Given the description of an element on the screen output the (x, y) to click on. 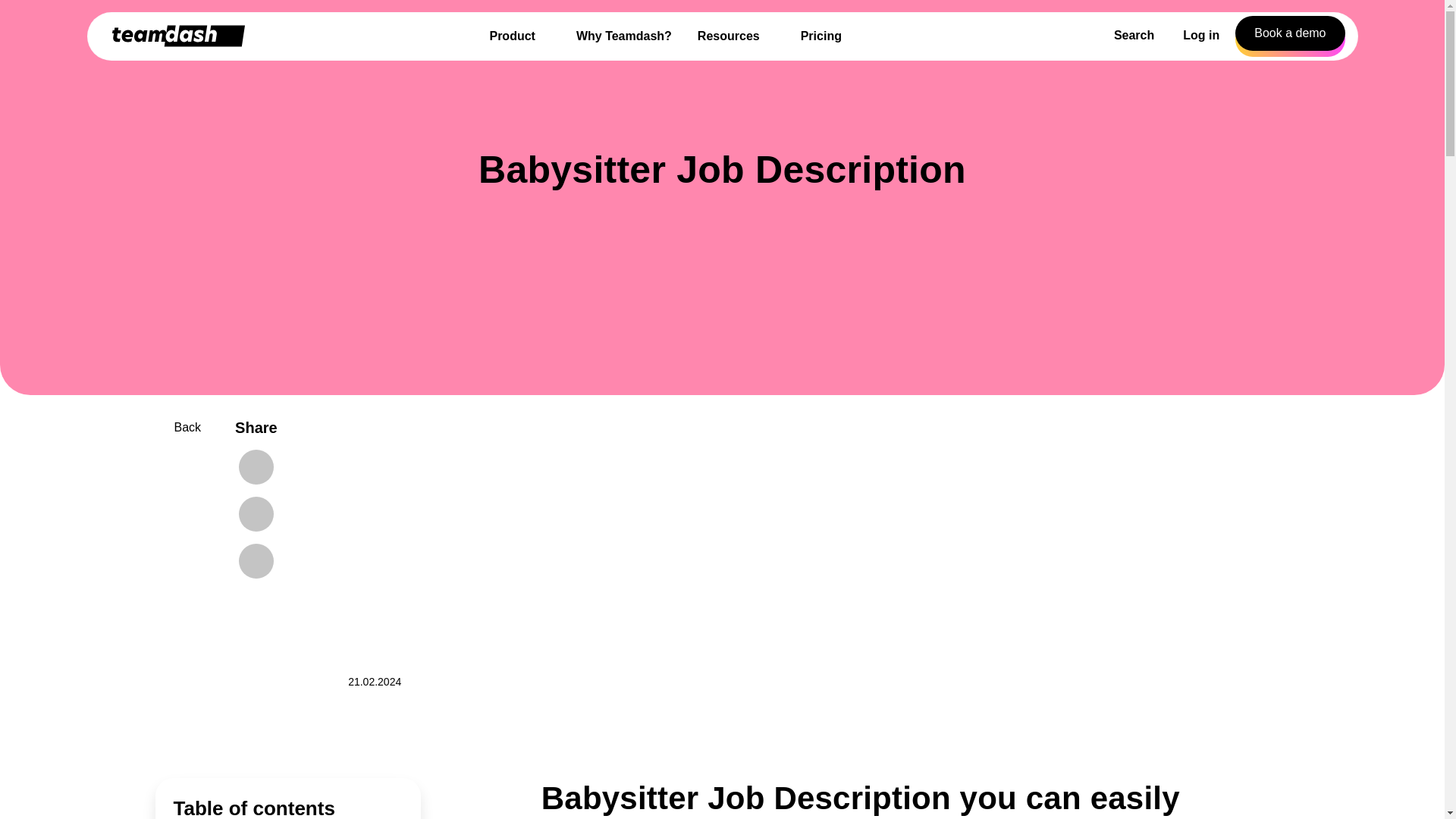
Log in (1200, 36)
Pricing (821, 35)
Product (519, 35)
Resources (736, 35)
Search (1126, 36)
Why Teamdash? (624, 35)
Book a demo (1288, 32)
Facebook (255, 466)
Back (178, 427)
